Given the description of an element on the screen output the (x, y) to click on. 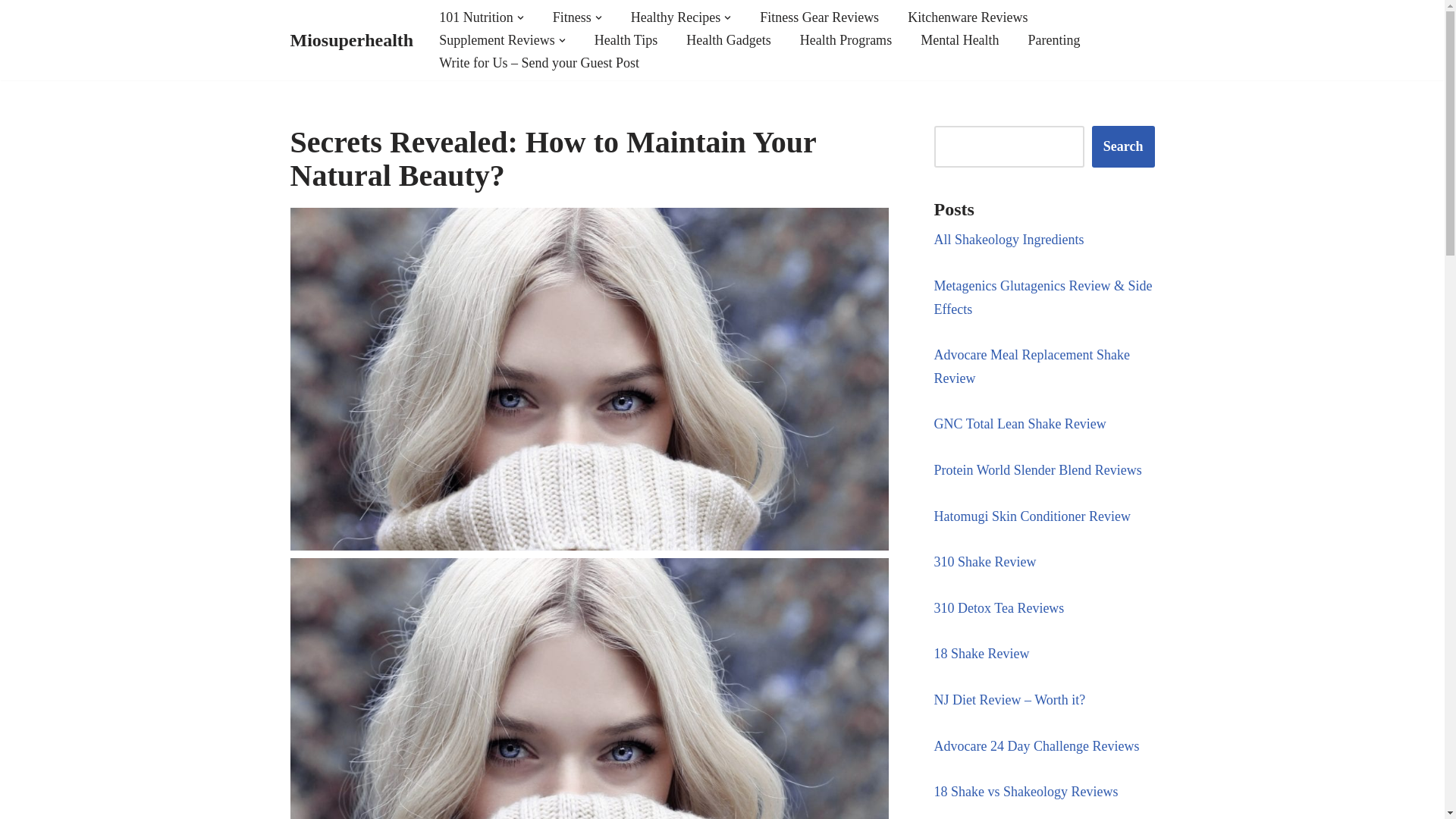
Skip to content (11, 31)
Health Programs (845, 39)
Fitness (572, 16)
Kitchenware Reviews (967, 16)
Healthy Recipes (675, 16)
101 Nutrition (476, 16)
Health Gadgets (727, 39)
Health Tips (626, 39)
Miosuperhealth (351, 40)
Mental Health (959, 39)
